Given the description of an element on the screen output the (x, y) to click on. 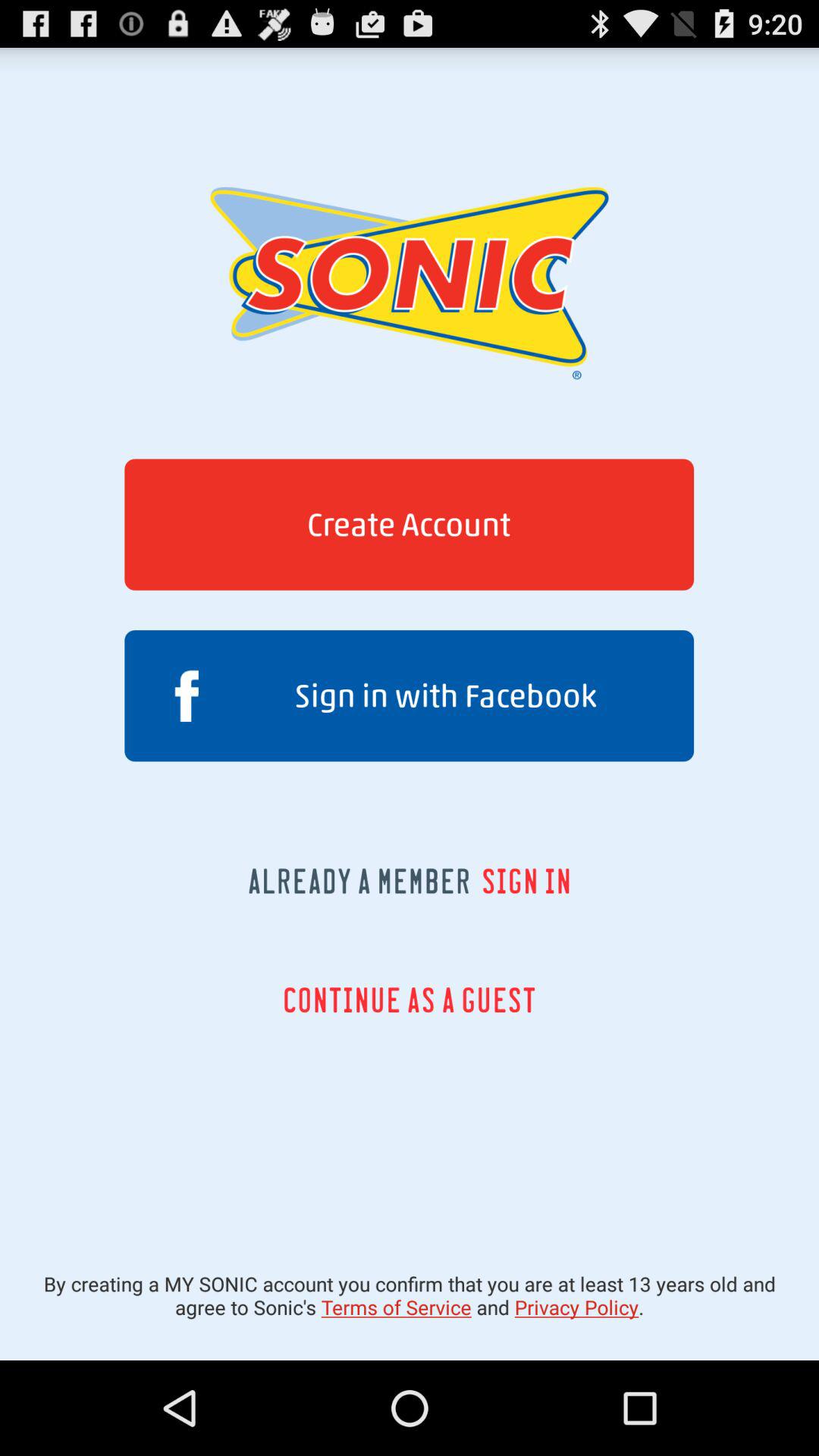
launch icon below continue as a item (409, 1295)
